Given the description of an element on the screen output the (x, y) to click on. 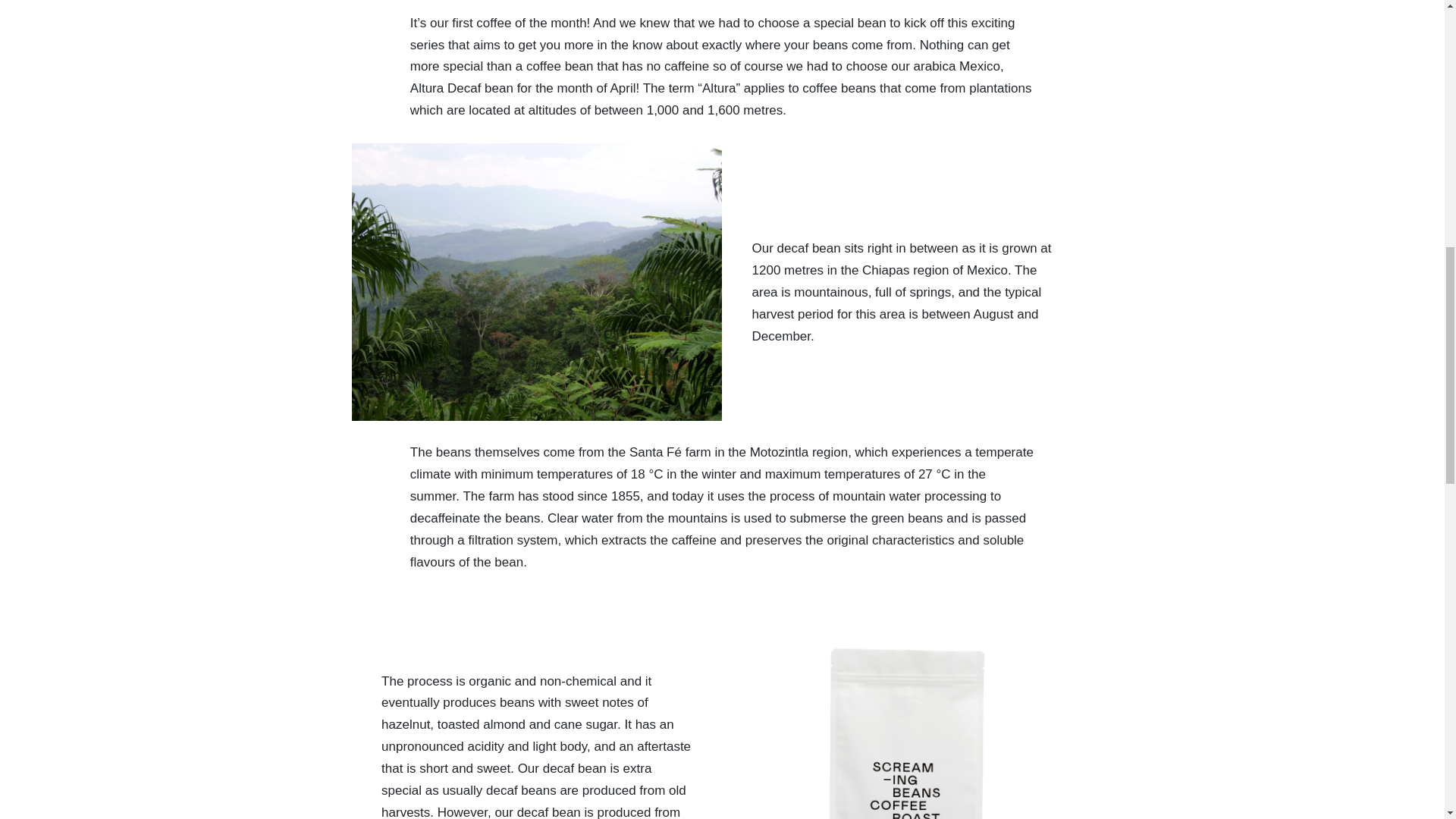
Scroll To Top (1413, 18)
